Given the description of an element on the screen output the (x, y) to click on. 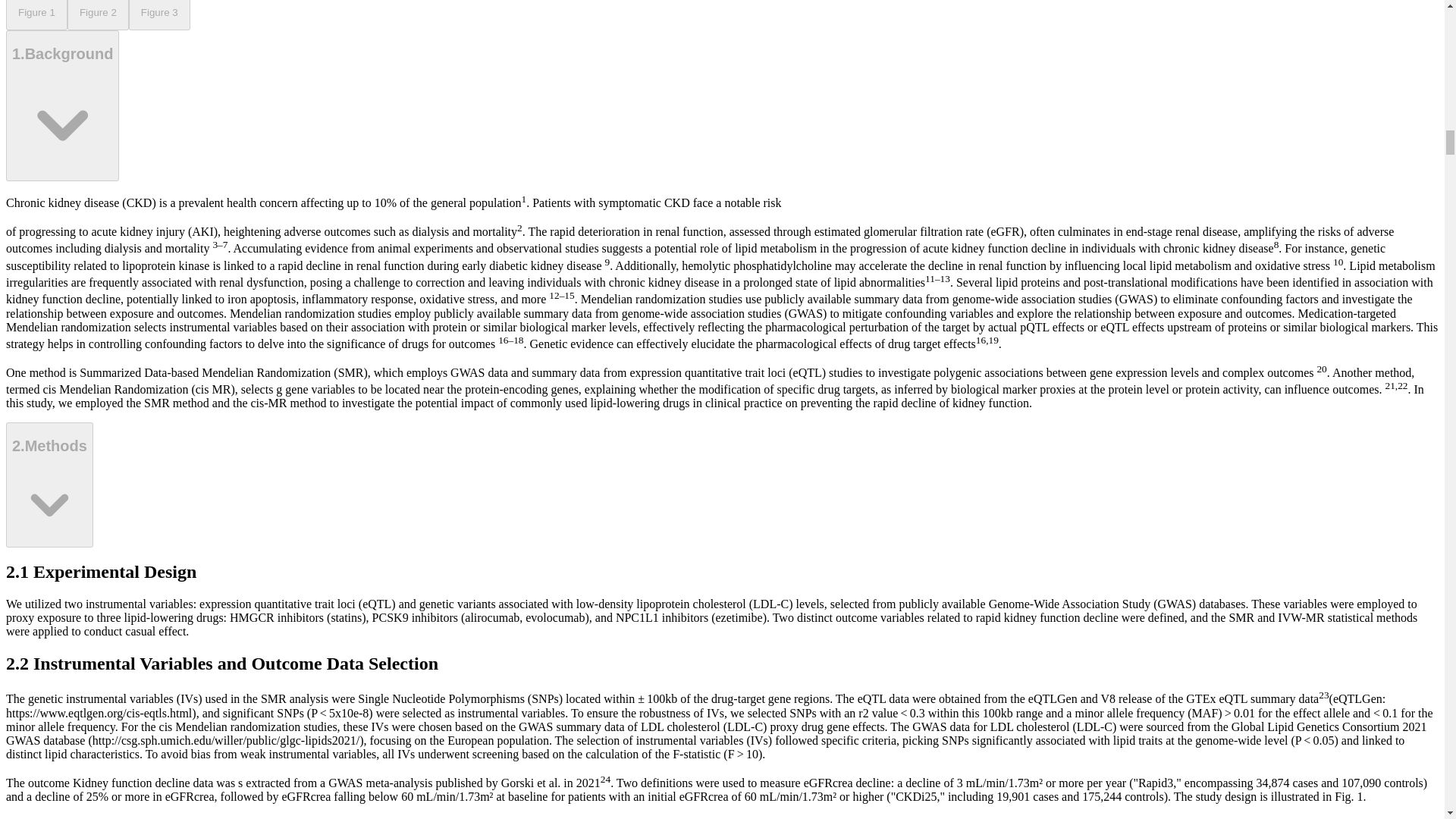
Figure 1 (35, 15)
Figure 3 (159, 15)
Figure 2 (97, 15)
